Given the description of an element on the screen output the (x, y) to click on. 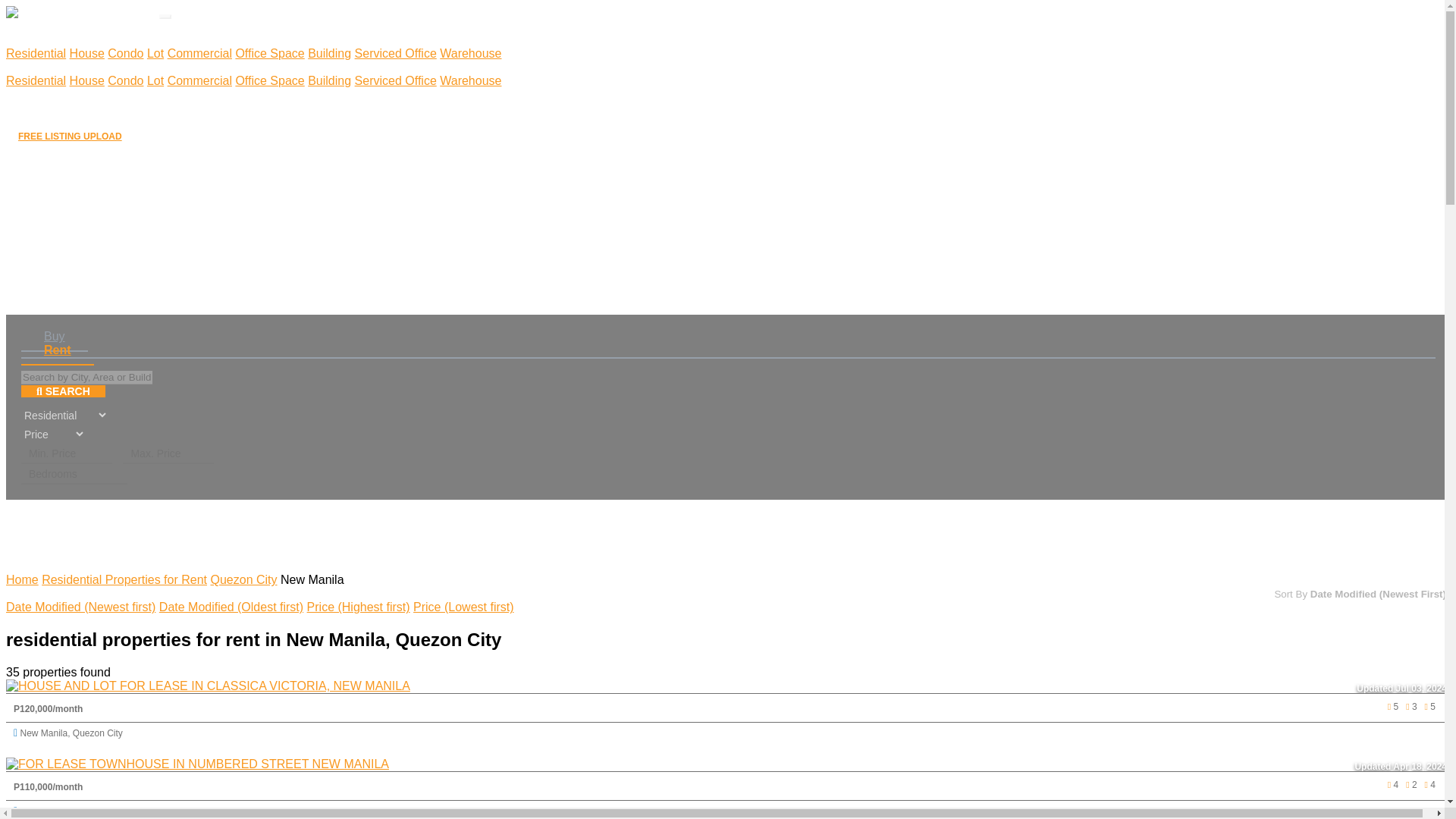
House (86, 52)
FREE LISTING UPLOAD (69, 136)
RENT (30, 67)
Condo (124, 80)
HOME (31, 26)
Office Space (269, 52)
HOME (31, 26)
House (86, 80)
ABOUT (33, 95)
Warehouse (469, 52)
Serviced Office (395, 80)
FREE LISTING UPLOAD (69, 136)
Lot (155, 80)
BUY (27, 40)
BLOG (30, 108)
